Given the description of an element on the screen output the (x, y) to click on. 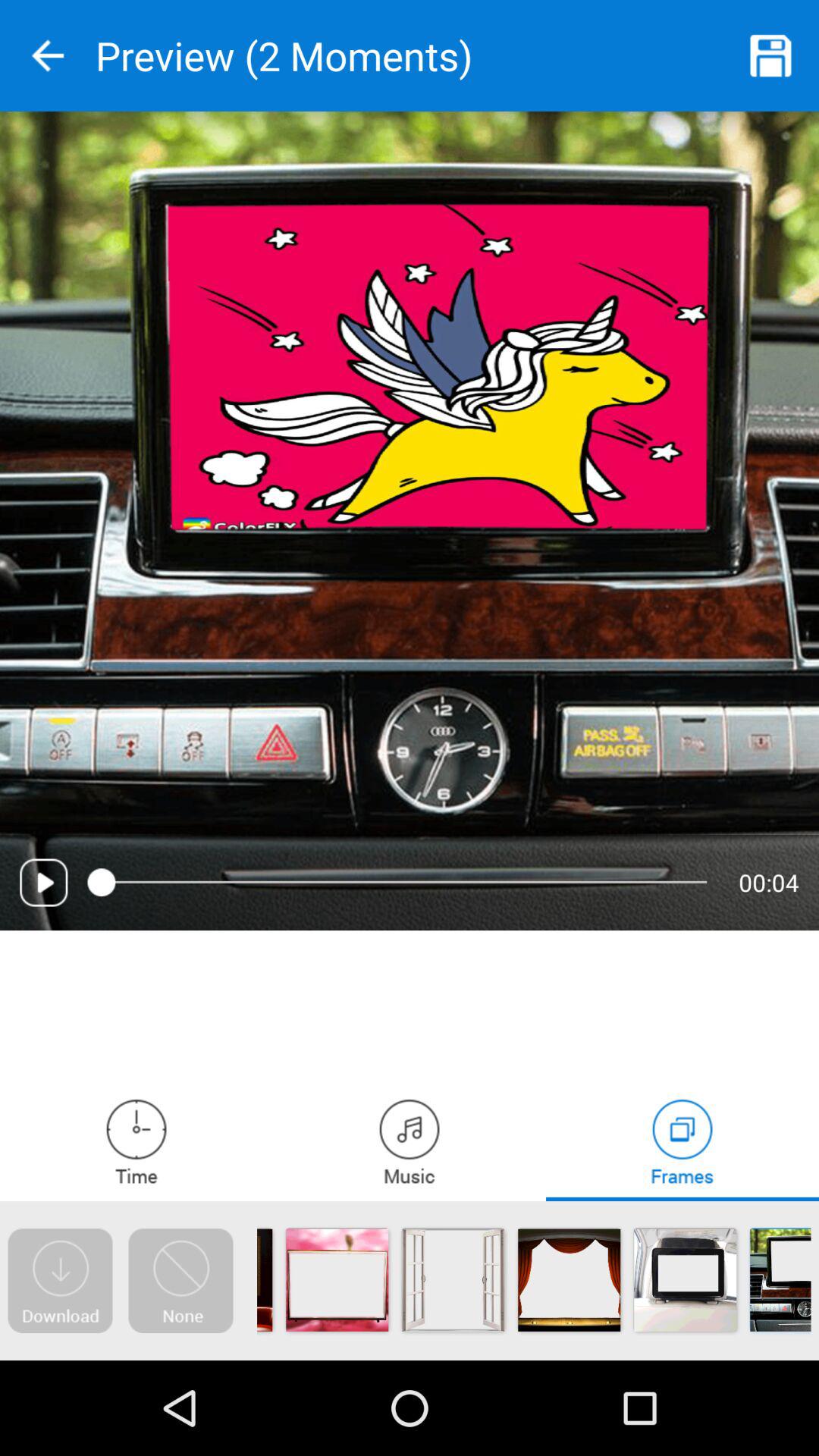
download file (59, 1280)
